Given the description of an element on the screen output the (x, y) to click on. 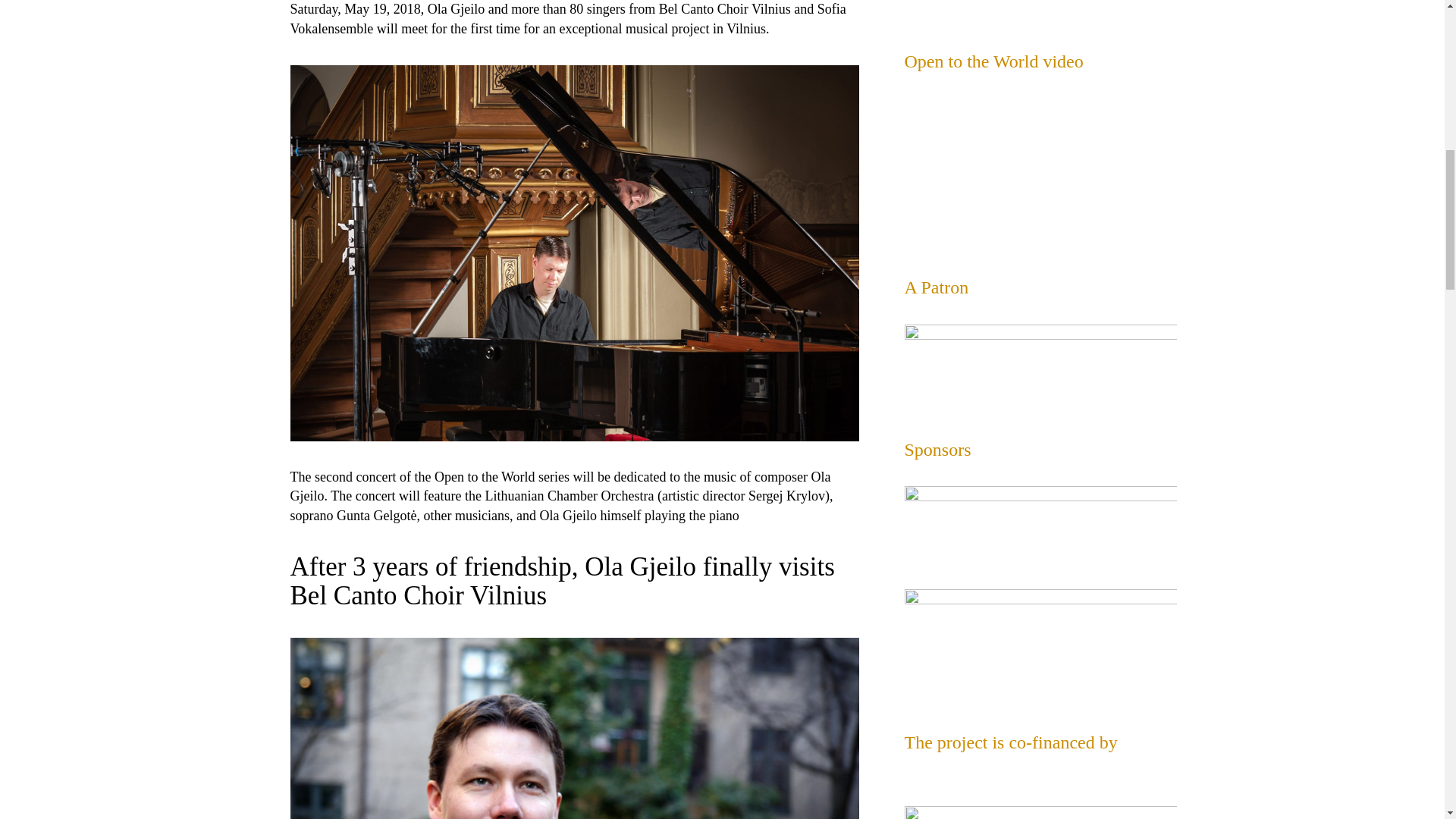
Ola Gjeilo-02 (574, 728)
15 metu ENG-01 (1040, 368)
mitnija-logo-spalvotas-naujas-1000px (1040, 523)
